Given the description of an element on the screen output the (x, y) to click on. 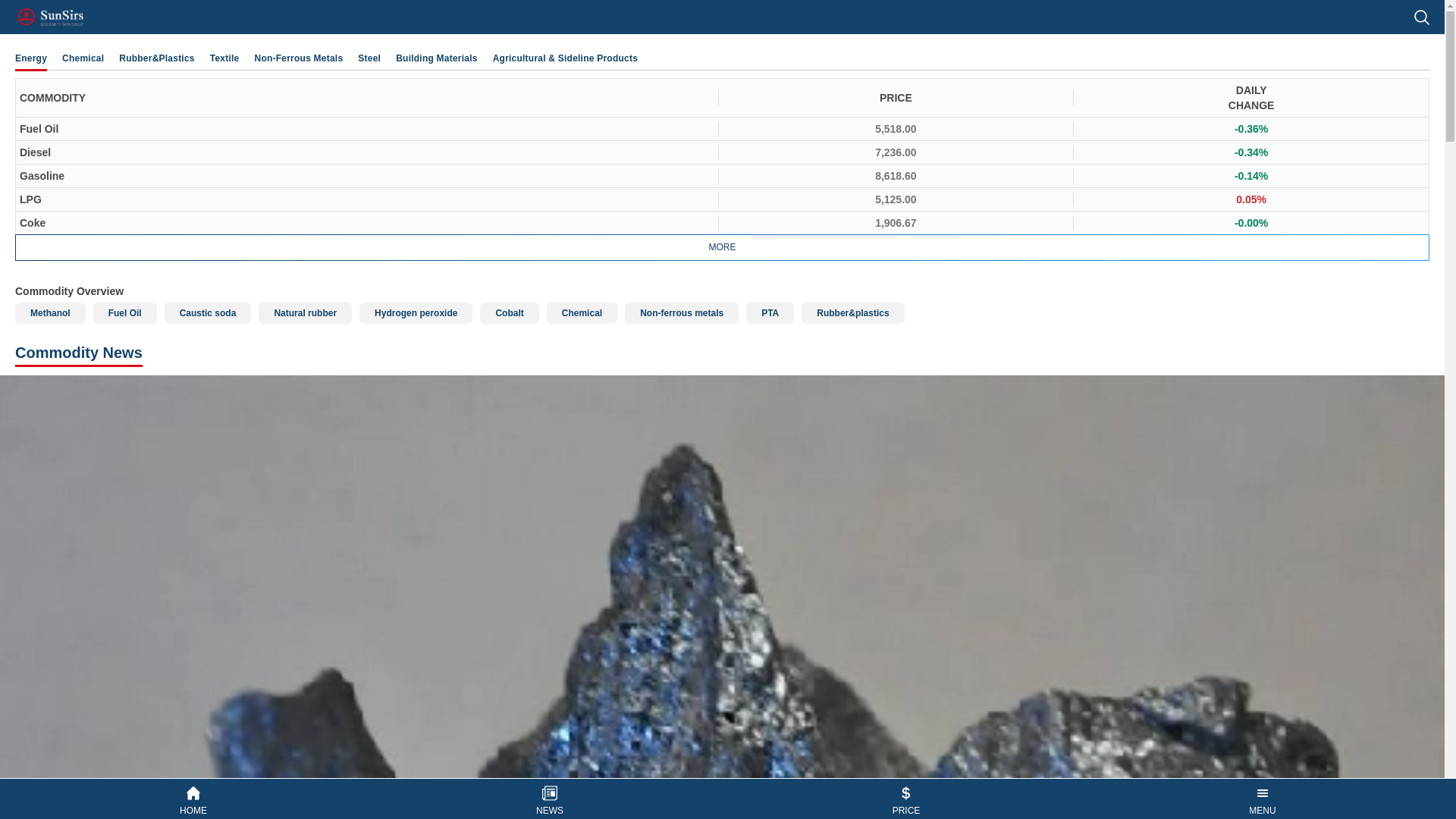
Natural rubber (305, 312)
Caustic soda (207, 312)
MORE (722, 247)
Chemical (82, 58)
Hydrogen peroxide (415, 312)
Chemical (582, 312)
PTA (769, 312)
Building Materials (436, 58)
Steel (369, 58)
Energy (30, 58)
Methanol (49, 312)
Non-ferrous metals (681, 312)
Non-Ferrous Metals (298, 58)
Cobalt (509, 312)
Fuel Oil (125, 312)
